Given the description of an element on the screen output the (x, y) to click on. 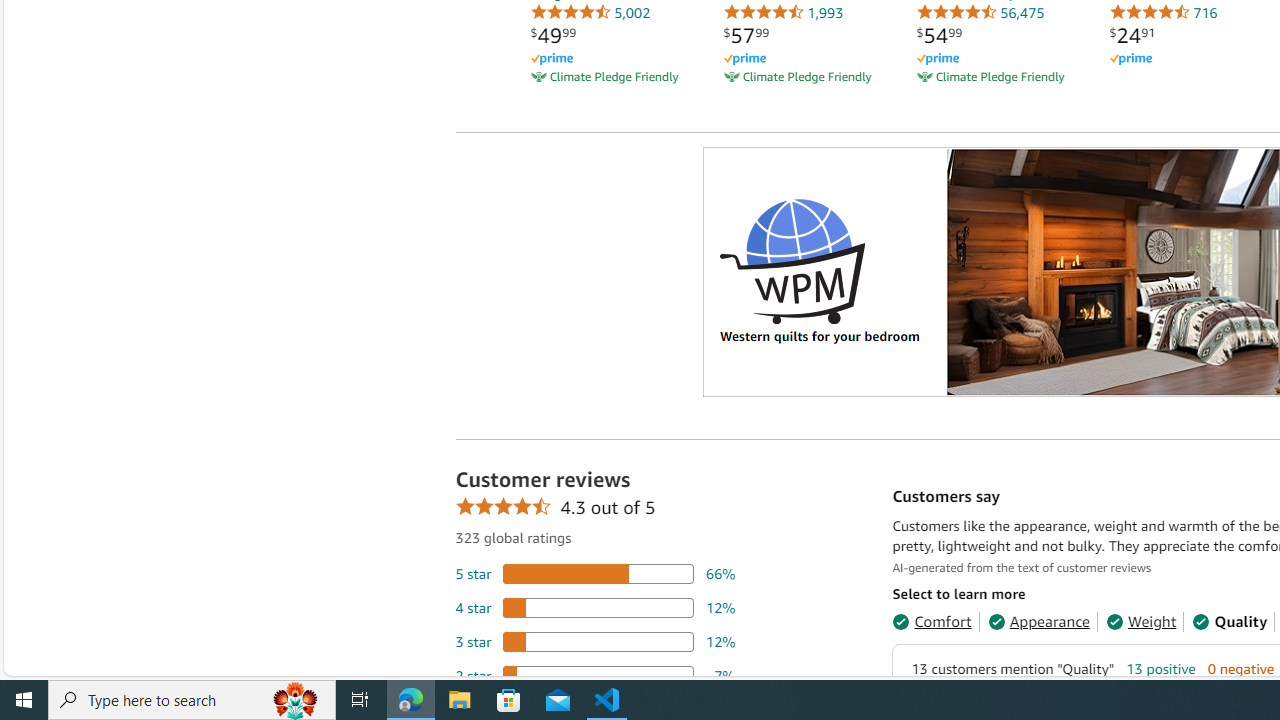
12 percent of reviews have 4 stars (595, 606)
Logo (792, 260)
$24.91 (1131, 35)
$49.99 (553, 35)
66 percent of reviews have 5 stars (595, 573)
